Given the description of an element on the screen output the (x, y) to click on. 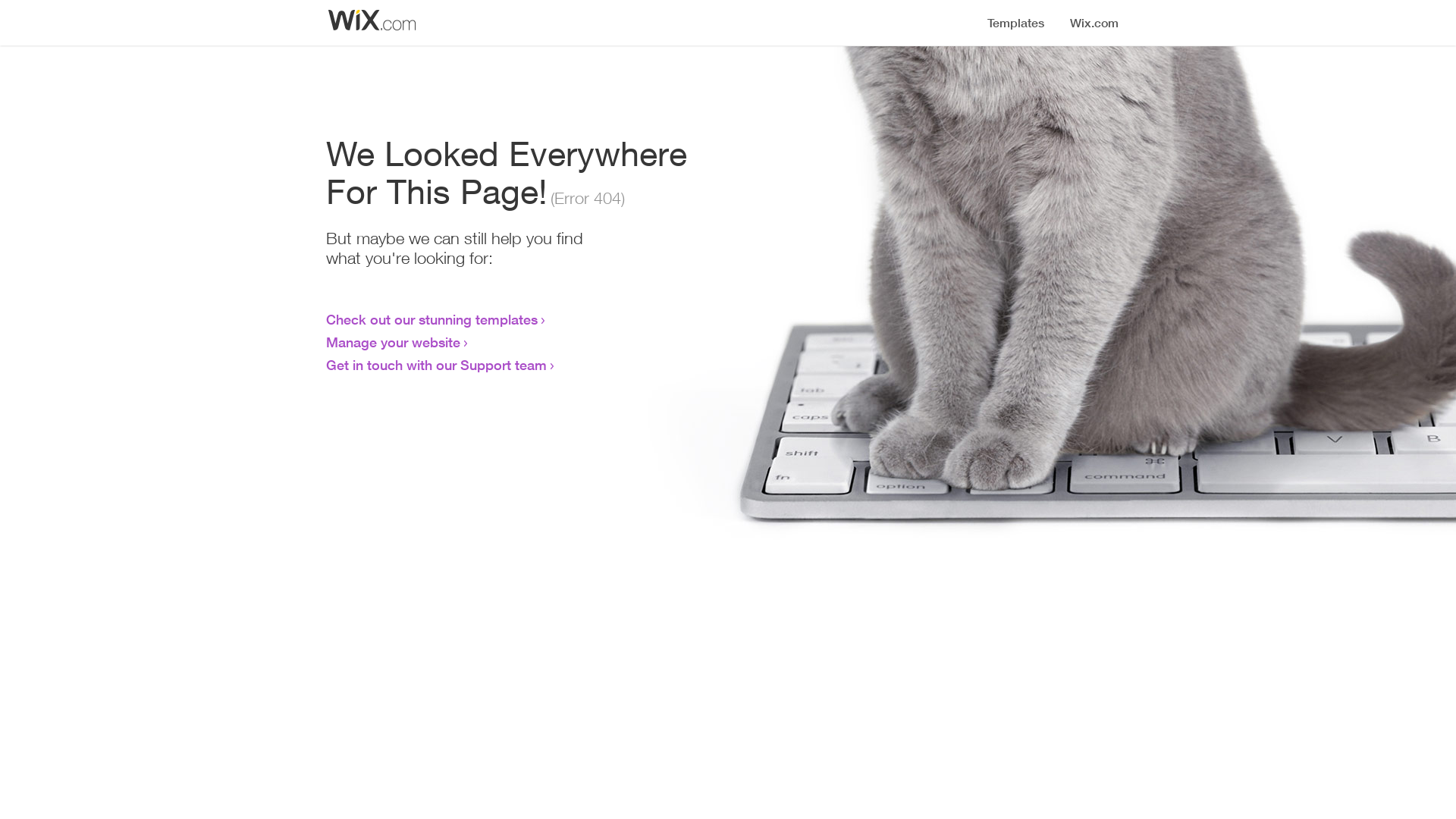
Manage your website Element type: text (393, 341)
Check out our stunning templates Element type: text (431, 318)
Get in touch with our Support team Element type: text (436, 364)
